Given the description of an element on the screen output the (x, y) to click on. 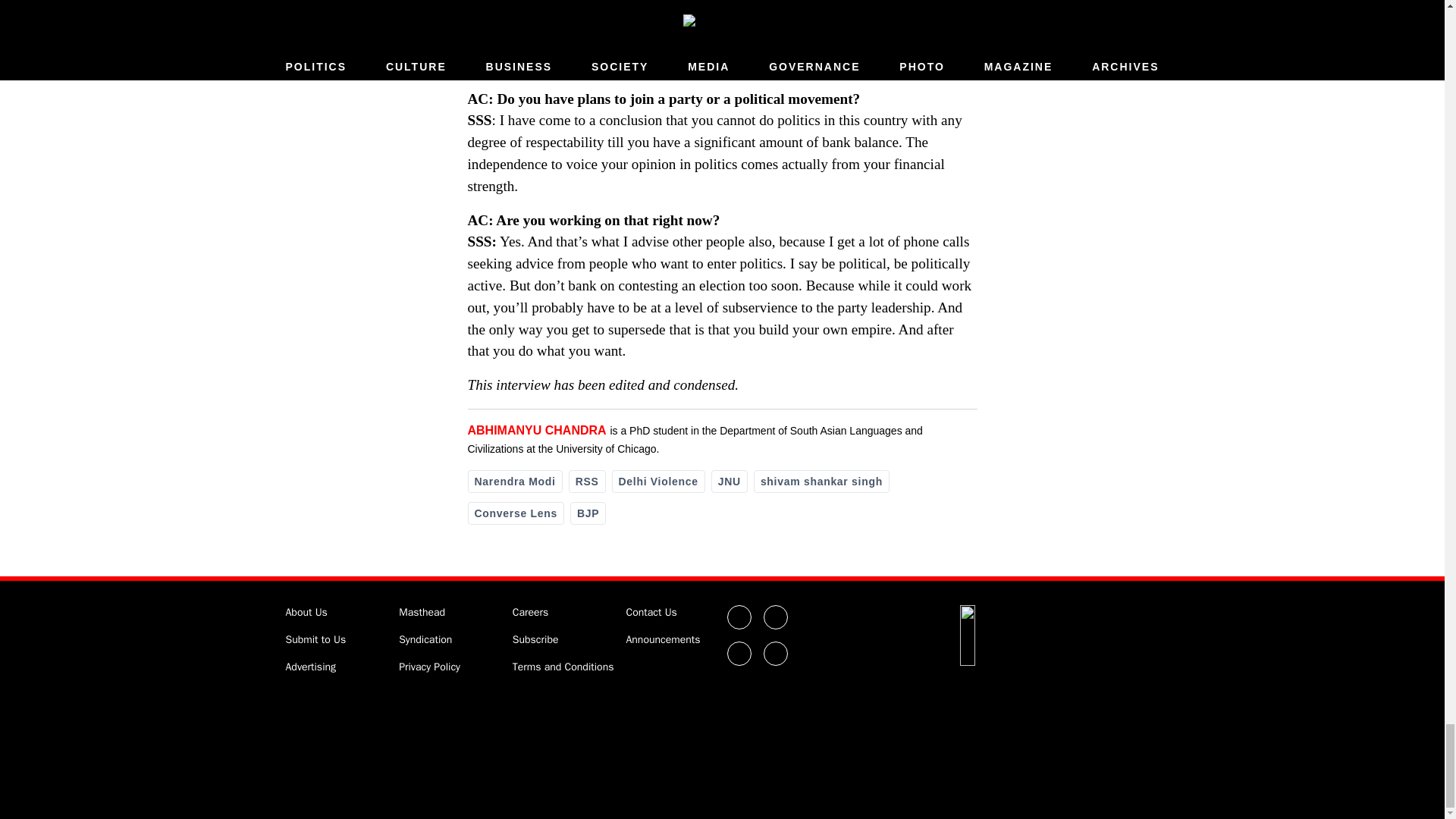
JNU (729, 481)
Narendra Modi (514, 481)
About Us (305, 612)
Careers (530, 612)
Converse Lens (515, 513)
Masthead (421, 612)
Delhi Violence (657, 481)
Contact Us (651, 612)
RSS (587, 481)
BJP (587, 513)
